Given the description of an element on the screen output the (x, y) to click on. 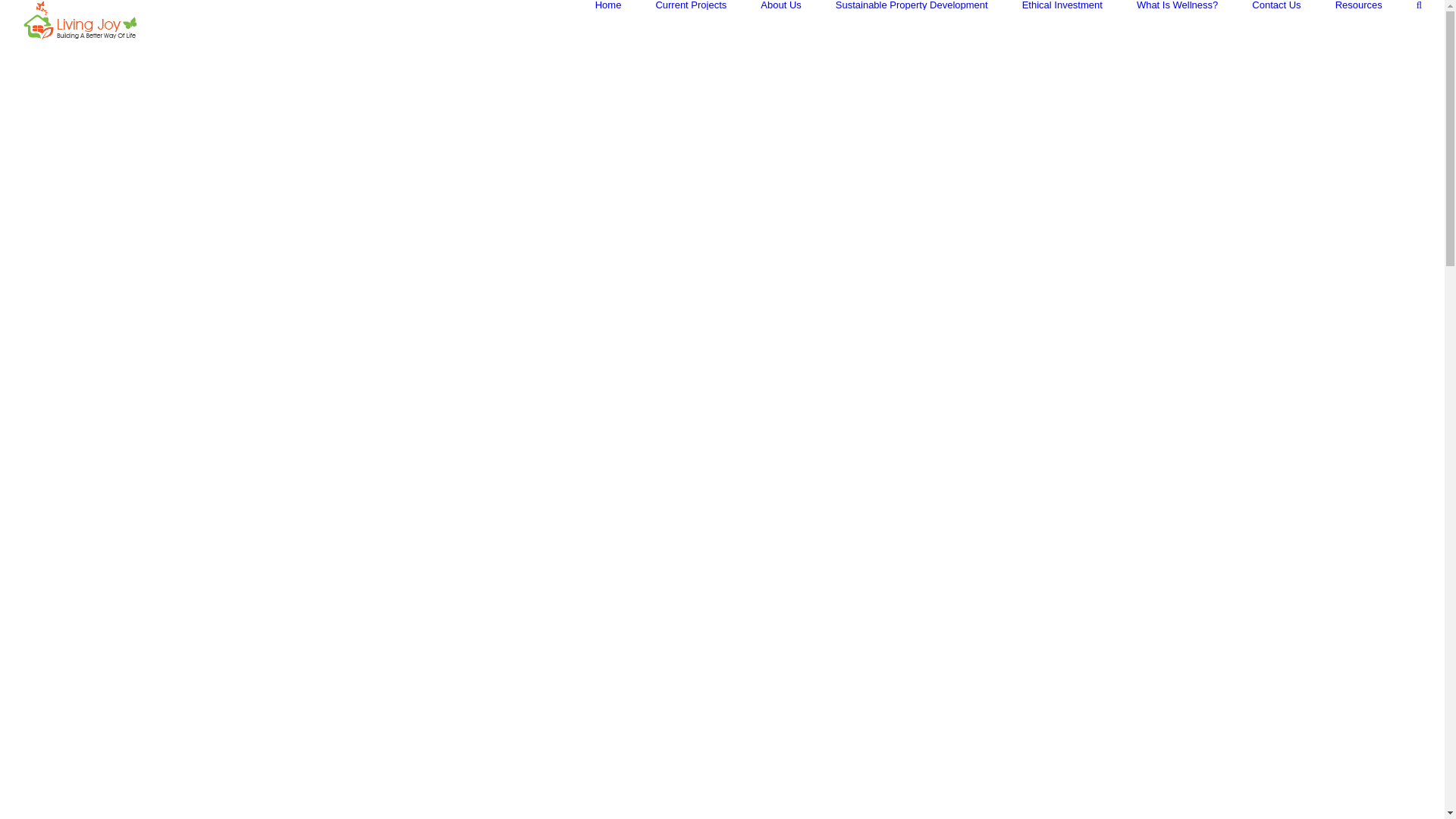
Resources Element type: text (1358, 4)
Home Element type: text (608, 4)
What Is Wellness? Element type: text (1176, 4)
Search Element type: hover (1418, 4)
About Us Element type: text (780, 4)
Current Projects Element type: text (690, 4)
Contact Us Element type: text (1276, 4)
Ethical Investment Element type: text (1062, 4)
Sustainable Property Development Element type: text (911, 4)
